Given the description of an element on the screen output the (x, y) to click on. 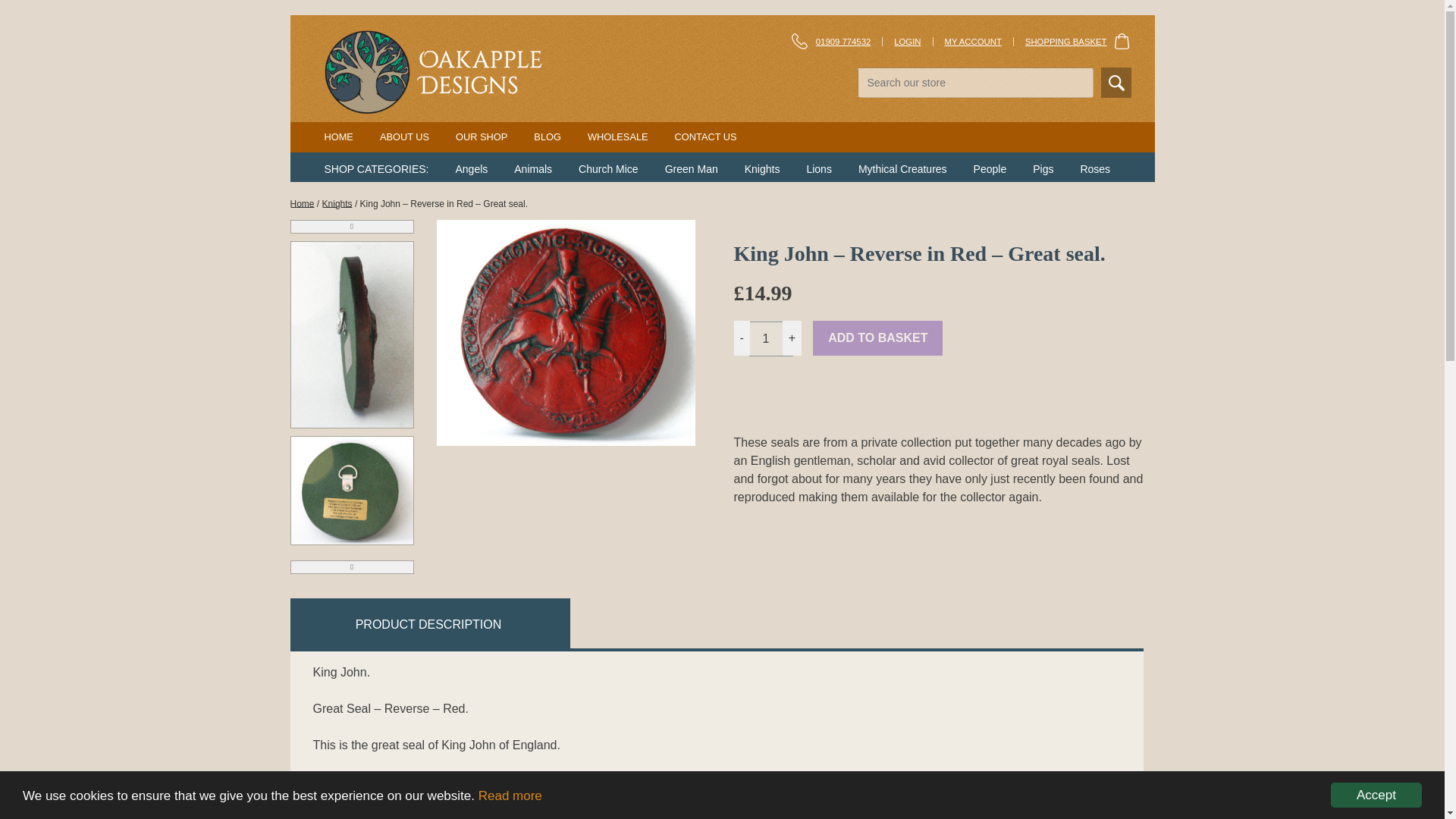
ABOUT US (404, 136)
CONTACT US (705, 136)
1 (771, 338)
Knights (336, 204)
MY ACCOUNT (973, 40)
Mythical Creatures (903, 168)
Angels (470, 168)
LOGIN (906, 40)
Knights (762, 168)
People (990, 168)
SHOPPING BASKET (1077, 40)
PayPal (937, 400)
PRODUCT DESCRIPTION (428, 624)
Roses (1094, 168)
Church Mice (608, 168)
